Given the description of an element on the screen output the (x, y) to click on. 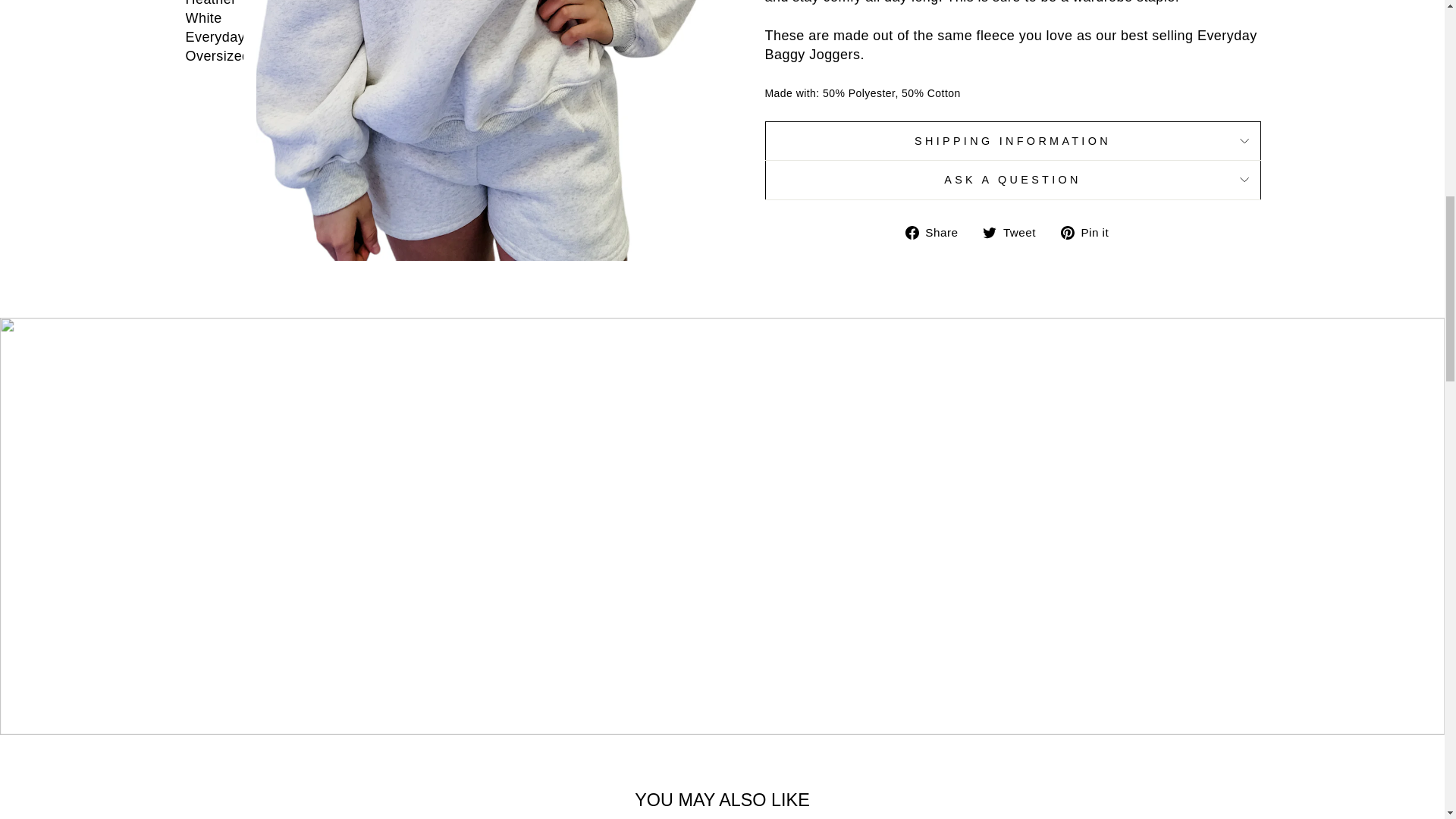
twitter (988, 232)
Share on Facebook (937, 231)
Tweet on Twitter (1014, 231)
Pin on Pinterest (1090, 231)
